Given the description of an element on the screen output the (x, y) to click on. 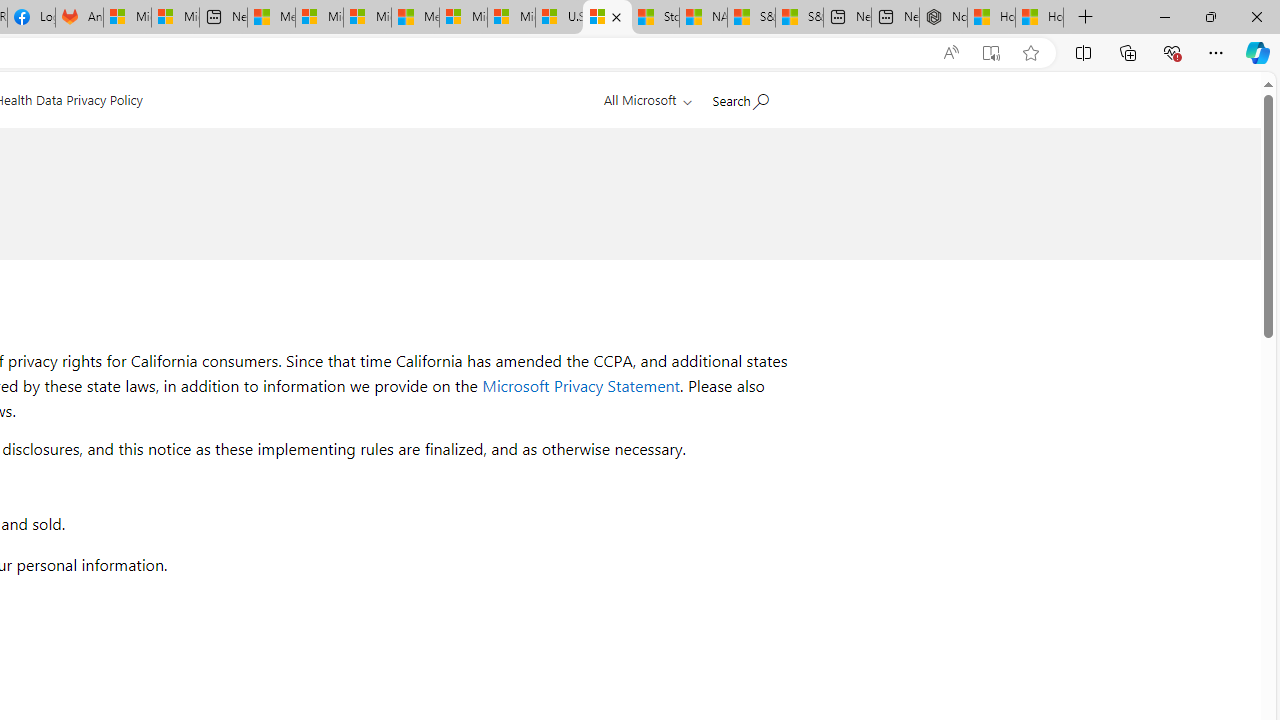
Microsoft account | Home (367, 17)
Restore (1210, 16)
Collections (1128, 52)
Microsoft Privacy Statement (581, 385)
S&P 500, Nasdaq end lower, weighed by Nvidia dip | Watch (799, 17)
Close tab (616, 16)
Split screen (1083, 52)
New tab (895, 17)
